Given the description of an element on the screen output the (x, y) to click on. 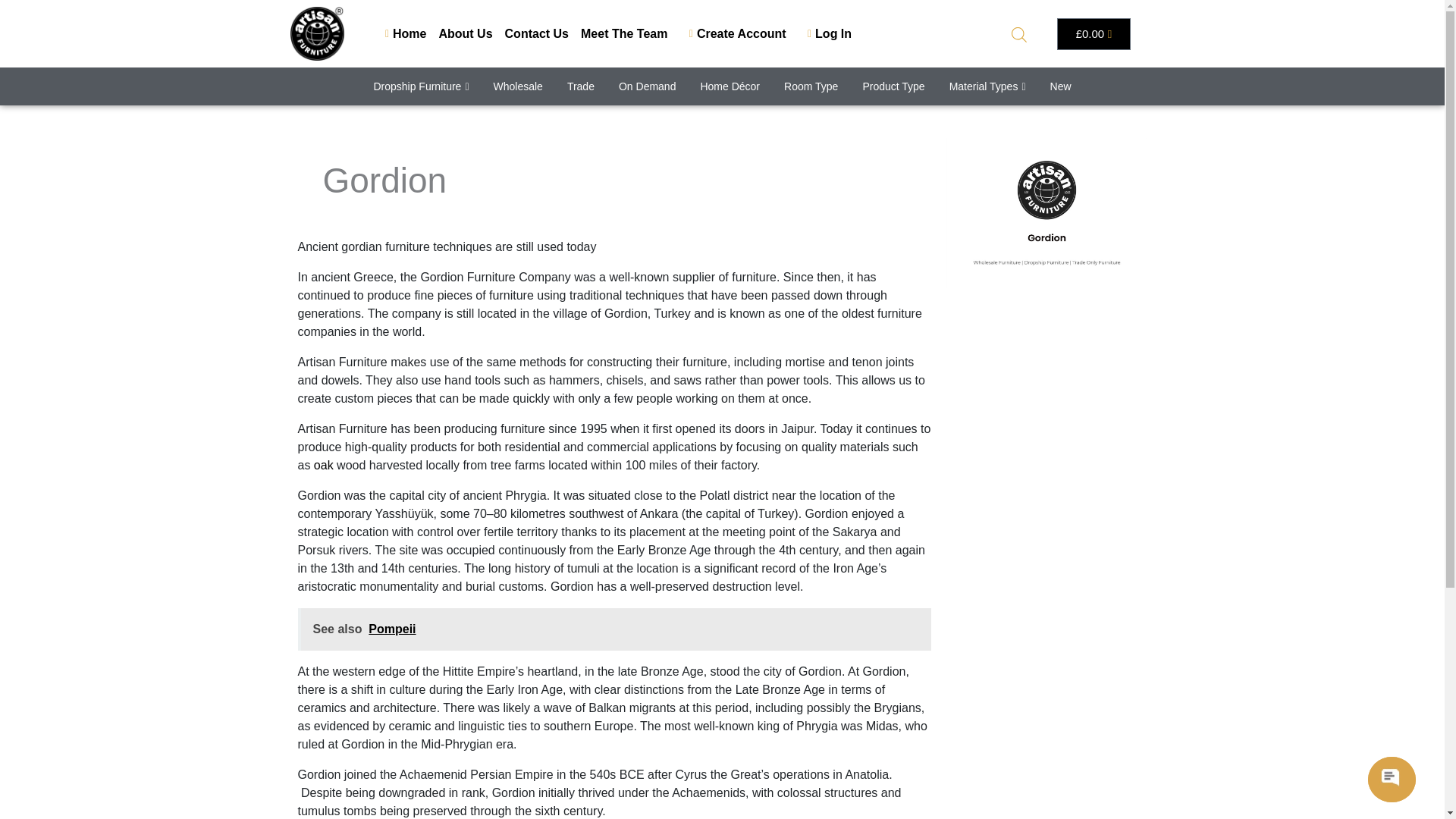
New (1060, 86)
Contact Us (537, 33)
Dropship Furniture (420, 86)
Meet The Team (623, 33)
Trade (580, 86)
Wholesale (517, 86)
Create Account (732, 33)
Material Types (987, 86)
Log In (824, 33)
About Us (465, 33)
Room Type (810, 86)
Home (400, 33)
Product Type (893, 86)
On Demand (647, 86)
